Given the description of an element on the screen output the (x, y) to click on. 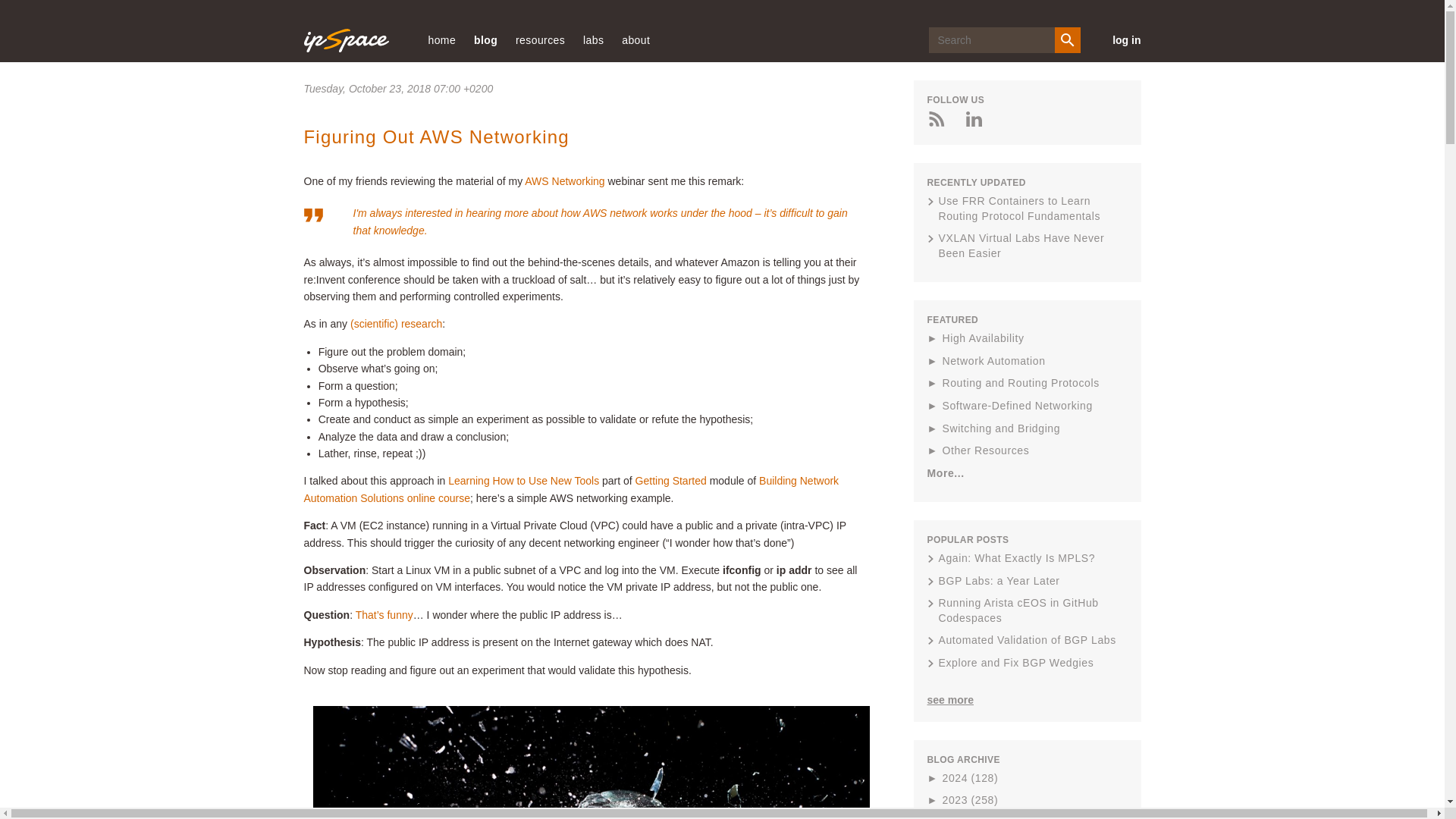
labs (593, 39)
Figuring Out AWS Networking (435, 136)
about (635, 39)
Getting Started (670, 480)
log in (1118, 39)
home (441, 39)
resources (539, 39)
blog (485, 39)
AWS Networking (564, 181)
Building Network Automation Solutions online course (570, 489)
Learning How to Use New Tools (523, 480)
